Given the description of an element on the screen output the (x, y) to click on. 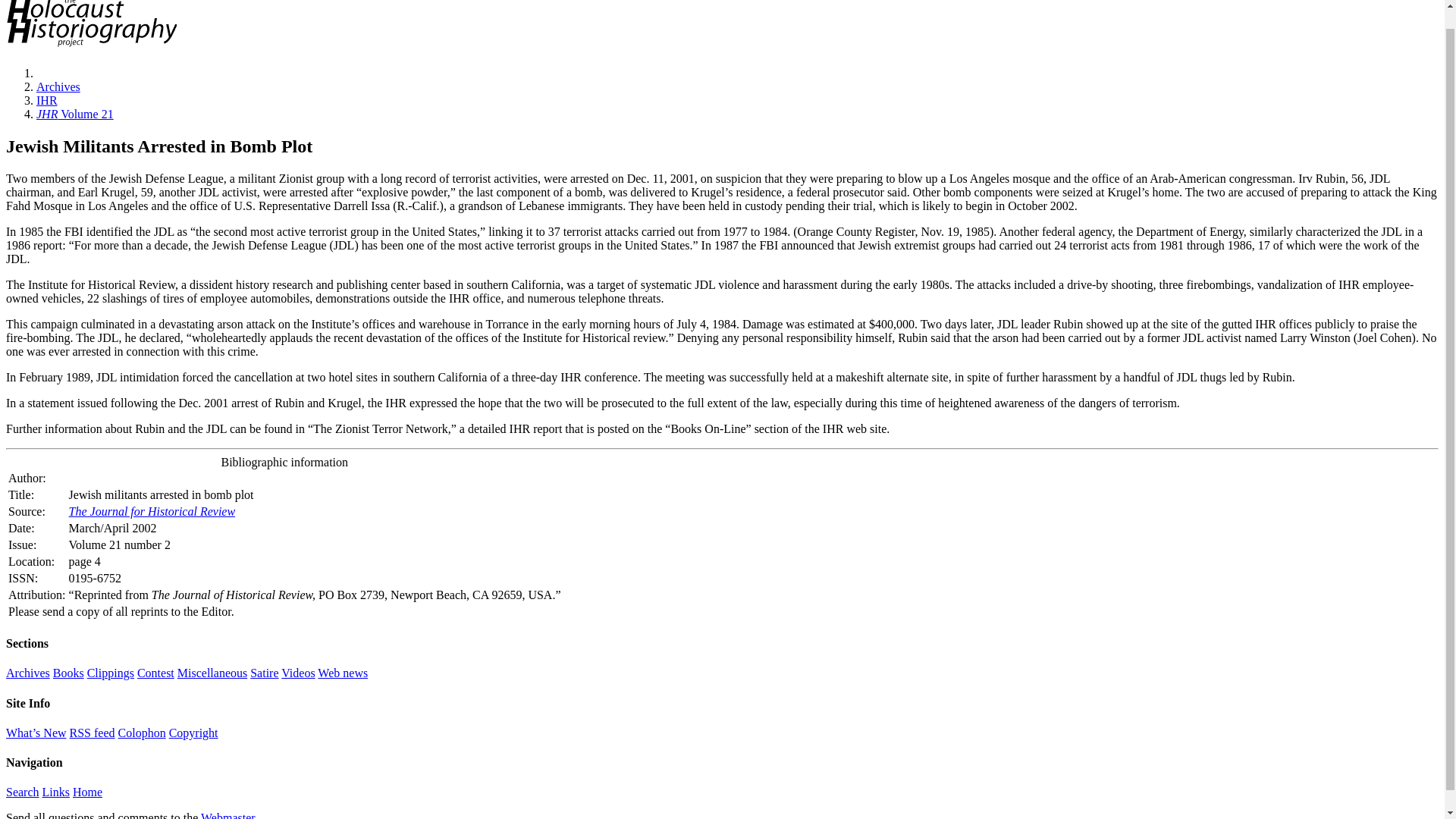
Videos (297, 672)
Colophon (141, 732)
RSS feed (92, 732)
New files and site changes (35, 732)
Archives (27, 672)
The Holocaust Historiography Project (90, 47)
Contest (155, 672)
Satire (264, 672)
Clippings and commentary (110, 672)
Home (86, 791)
Search the HHP site (22, 791)
Books (68, 672)
Clippings (110, 672)
Annual Halloween contest (155, 672)
The Journal for Historical Review (151, 511)
